Given the description of an element on the screen output the (x, y) to click on. 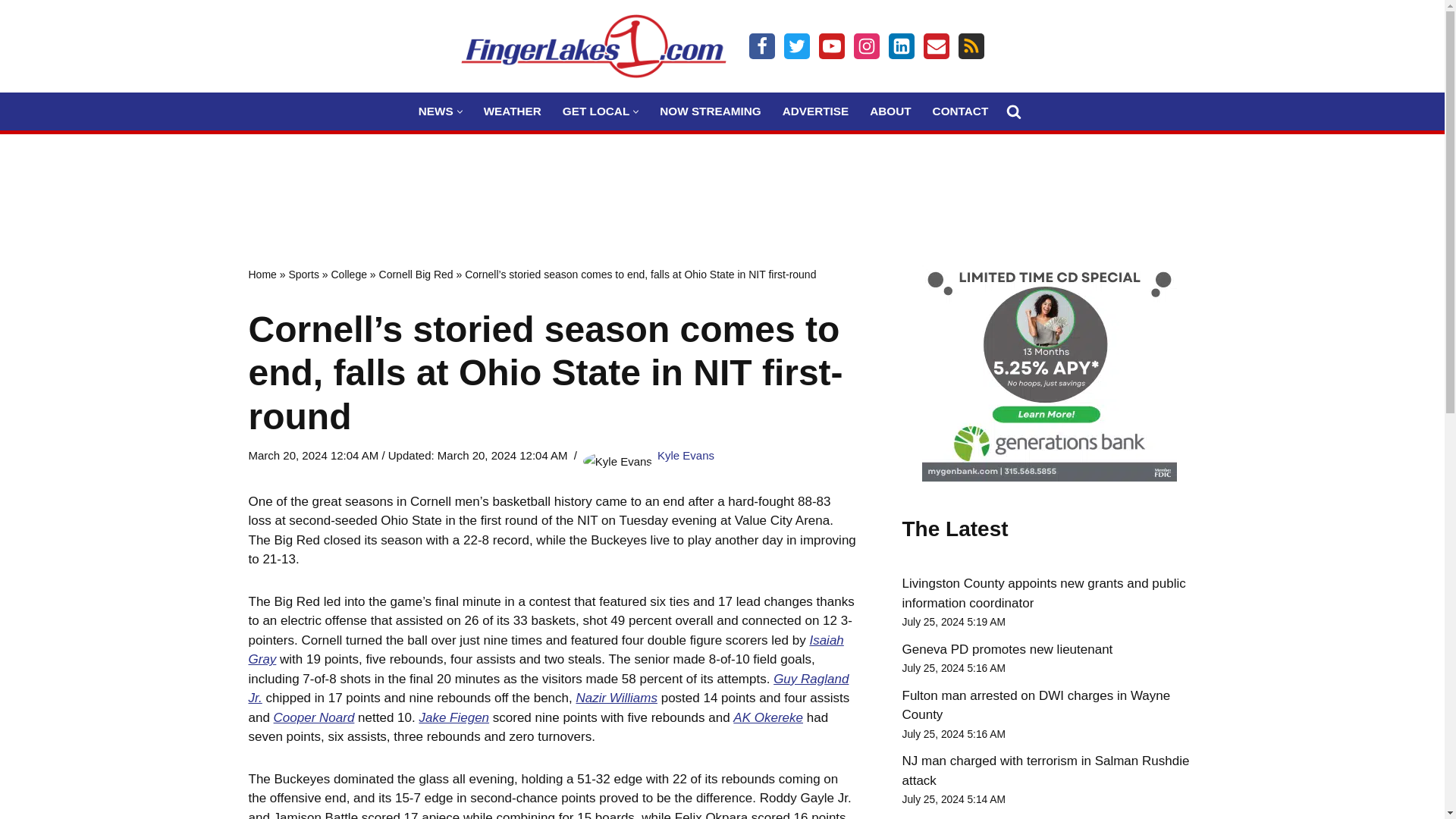
ADVERTISE (815, 111)
LinkIn (901, 45)
Posts by Kyle Evans (686, 454)
ABOUT (890, 111)
GET LOCAL (595, 111)
Youtube (831, 45)
Facebook (761, 45)
Instagram (866, 45)
Skip to content (11, 31)
Feed (971, 45)
Twitter (796, 45)
WEATHER (512, 111)
NEWS (435, 111)
Email Us (936, 45)
NOW STREAMING (709, 111)
